Given the description of an element on the screen output the (x, y) to click on. 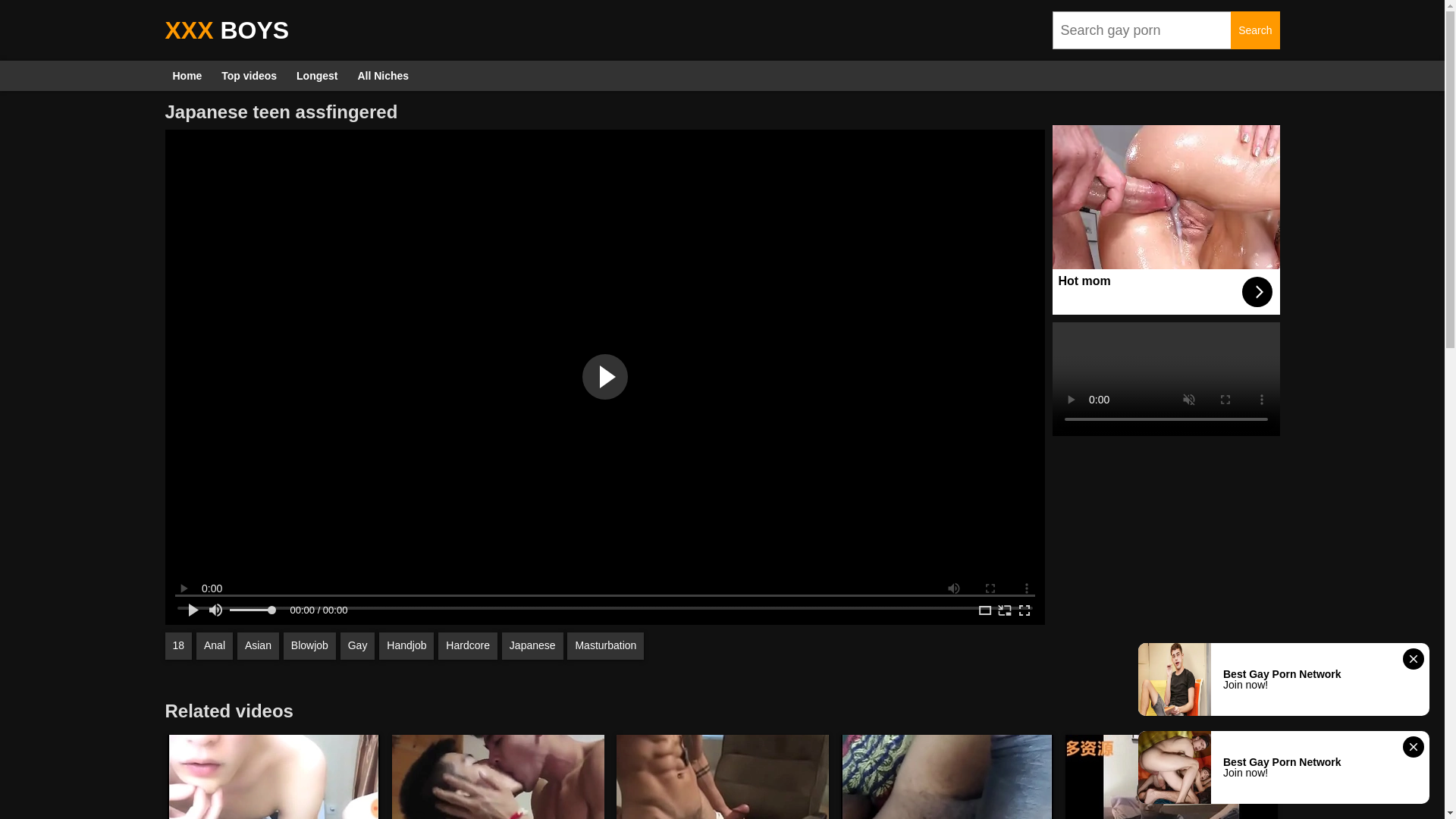
Home (187, 75)
Search (1254, 30)
Blowjob (309, 646)
Hardcore (467, 646)
Bangkok g story ep 23 (497, 776)
Search (1254, 30)
VID 20171029 111056 (946, 776)
18 (178, 646)
brent everett, mai 2007 (721, 776)
Masturbation (605, 646)
Japanese (532, 646)
Search (1254, 30)
Anal (214, 646)
20171013 220319 (272, 776)
20171013 220319 (272, 776)
